Given the description of an element on the screen output the (x, y) to click on. 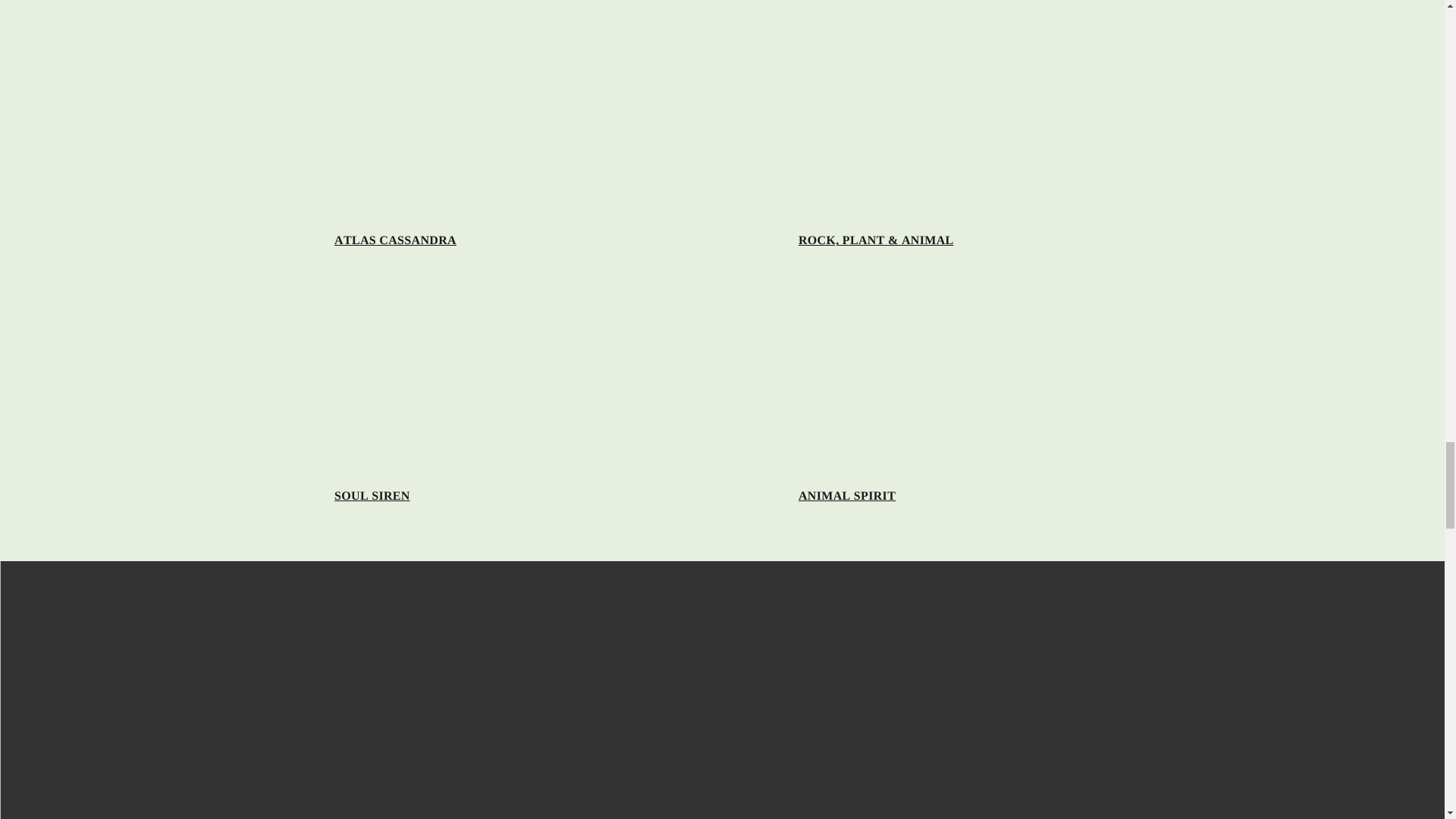
SOUL SIREN (372, 495)
ATLAS CASSANDRA (395, 240)
ANIMAL SPIRIT (846, 495)
